Given the description of an element on the screen output the (x, y) to click on. 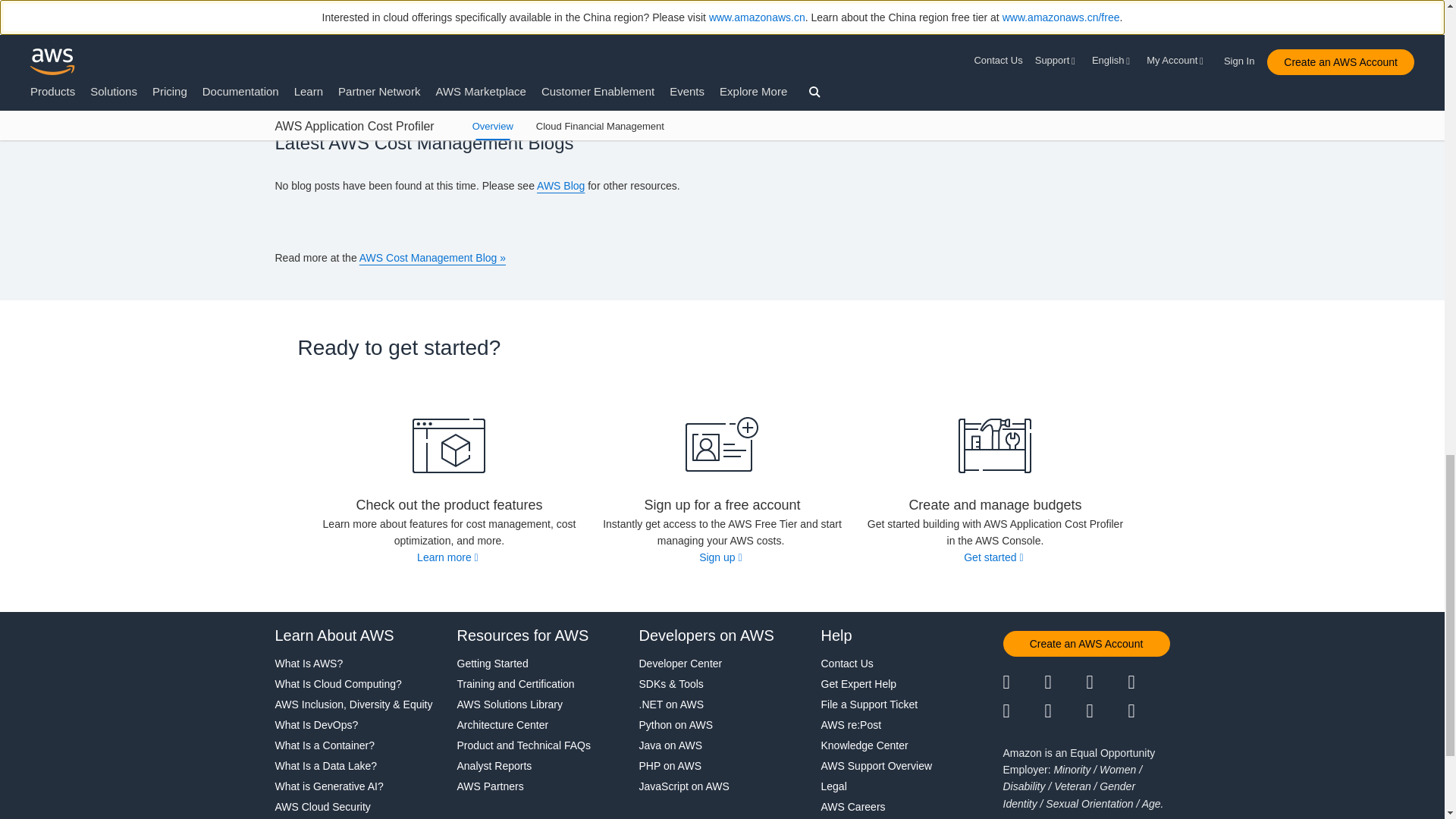
Linkedin (1106, 681)
Facebook (1065, 681)
Twitter (1023, 681)
